Given the description of an element on the screen output the (x, y) to click on. 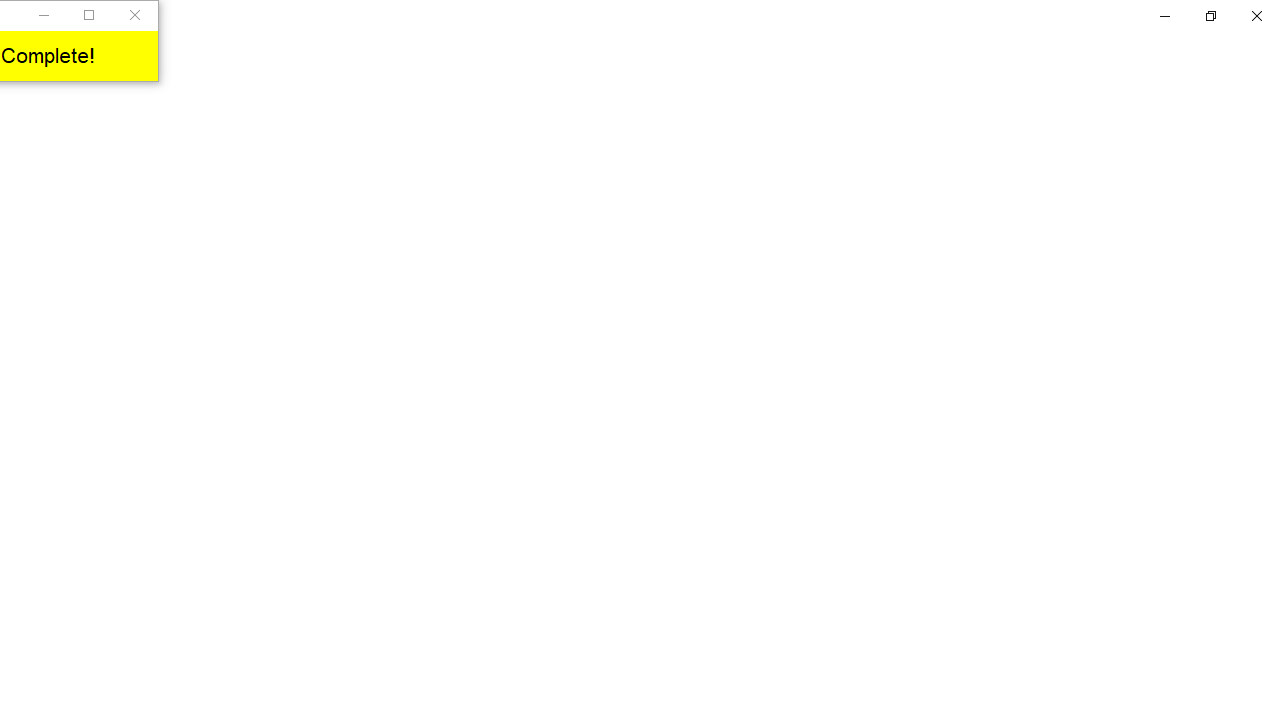
Close Settings (1256, 15)
Restore Settings (1210, 15)
Minimize Settings (1164, 15)
Vertical Small Decrease (1272, 103)
